Given the description of an element on the screen output the (x, y) to click on. 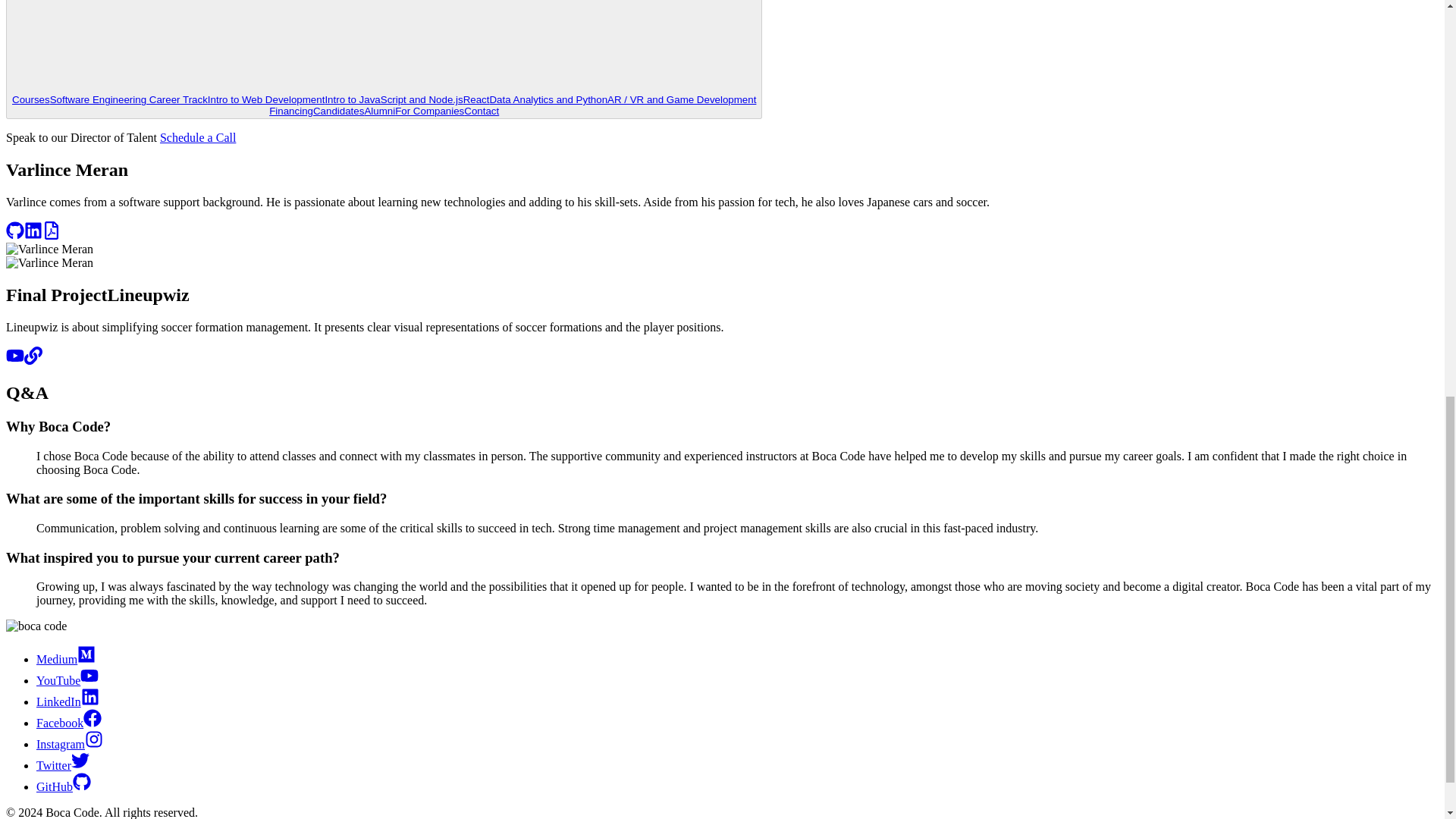
Like us on Facebook (68, 722)
Facebook (68, 722)
YouTube (67, 680)
React (476, 99)
Medium (66, 658)
Candidates (338, 111)
Schedule a Call (197, 137)
Courses (30, 99)
Data Analytics and Python (548, 99)
LinkedIn (67, 701)
